Given the description of an element on the screen output the (x, y) to click on. 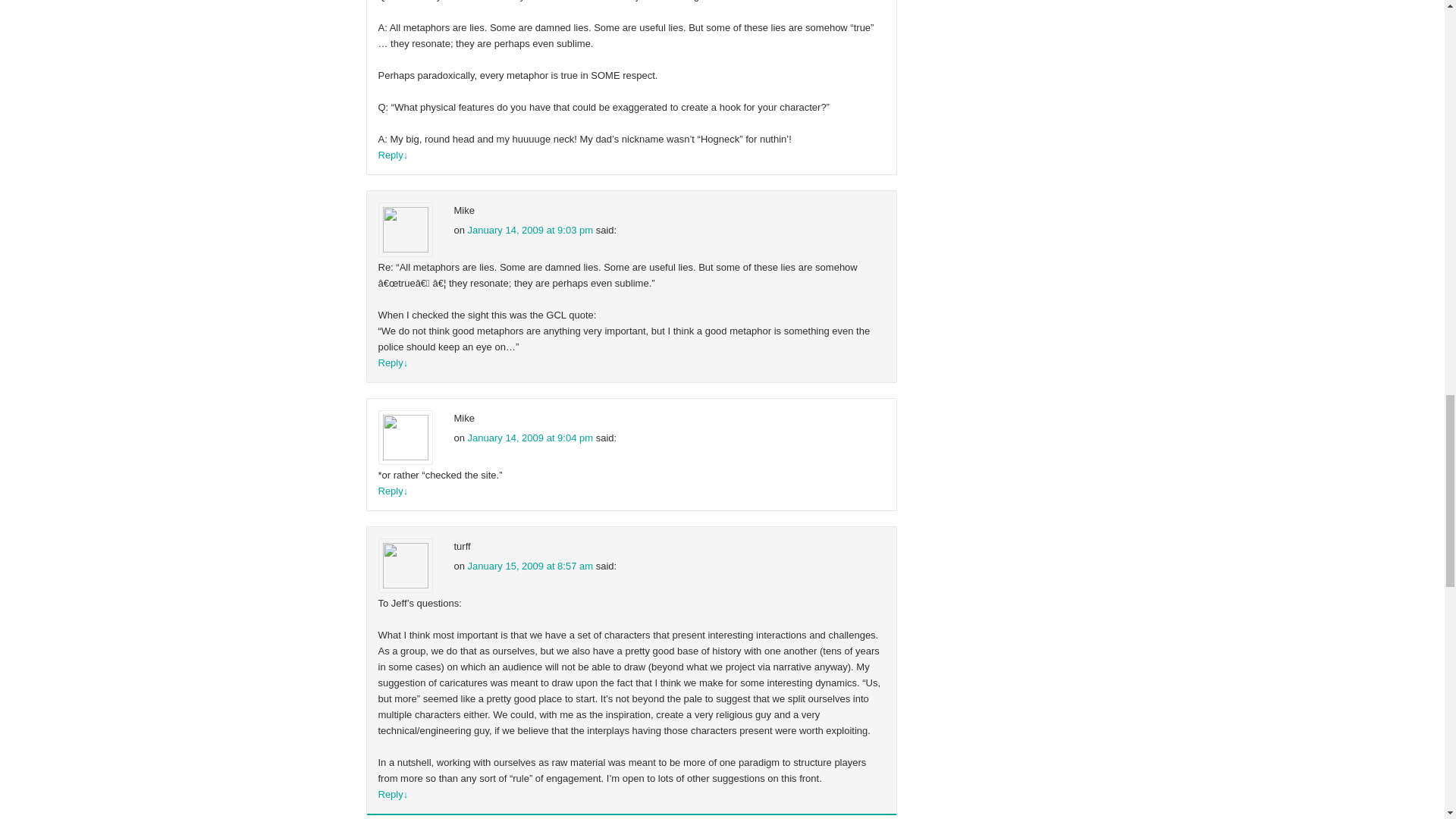
January 14, 2009 at 9:03 pm (530, 229)
January 15, 2009 at 8:57 am (530, 565)
January 14, 2009 at 9:04 pm (530, 437)
